Given the description of an element on the screen output the (x, y) to click on. 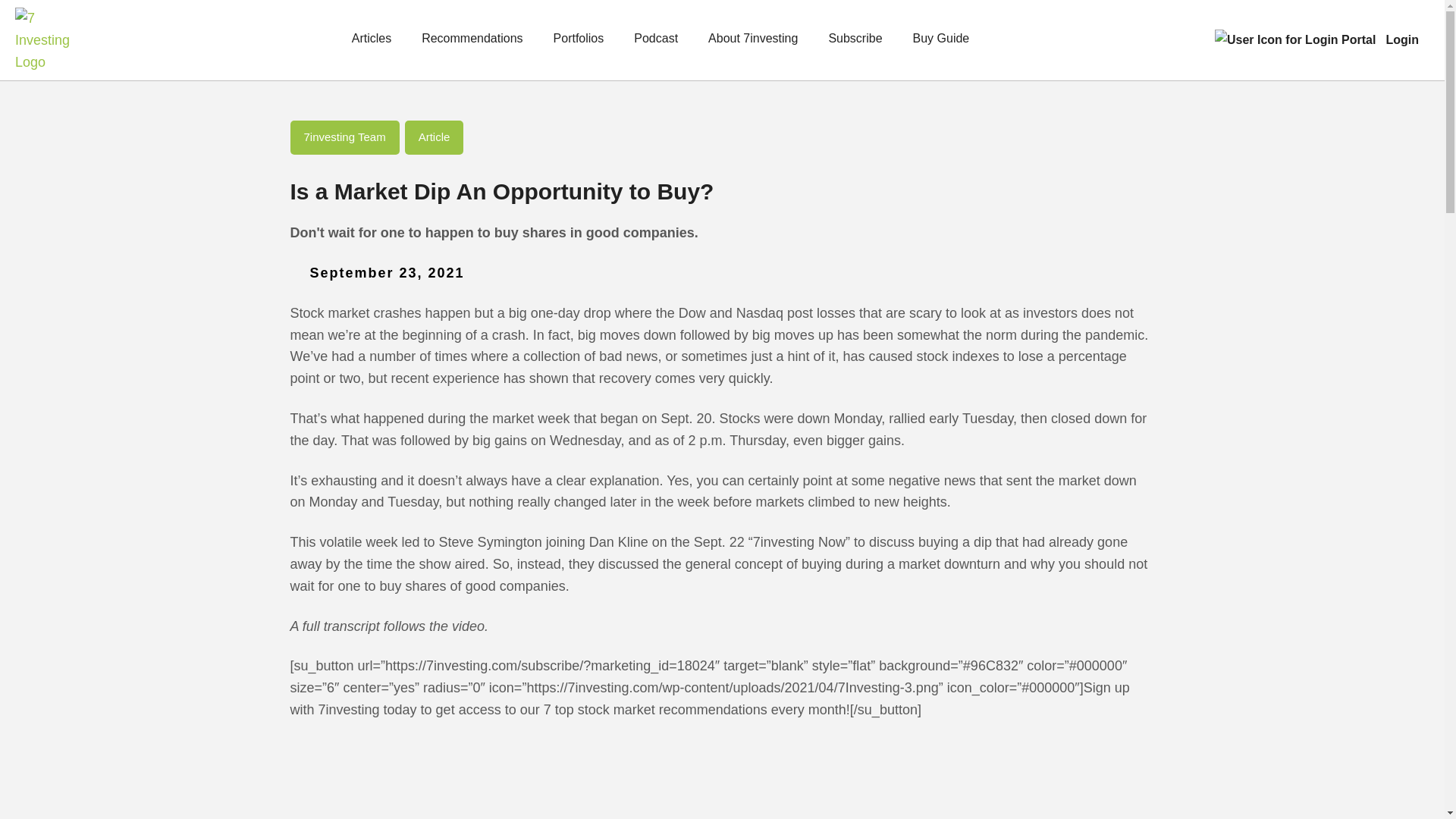
Subscribe (855, 44)
Articles (371, 44)
Buy Guide (940, 44)
Recommendations (472, 44)
About 7investing (752, 44)
Login (1402, 40)
Article (434, 136)
Portfolios (578, 44)
Podcast (655, 44)
7investing Team (343, 136)
